Given the description of an element on the screen output the (x, y) to click on. 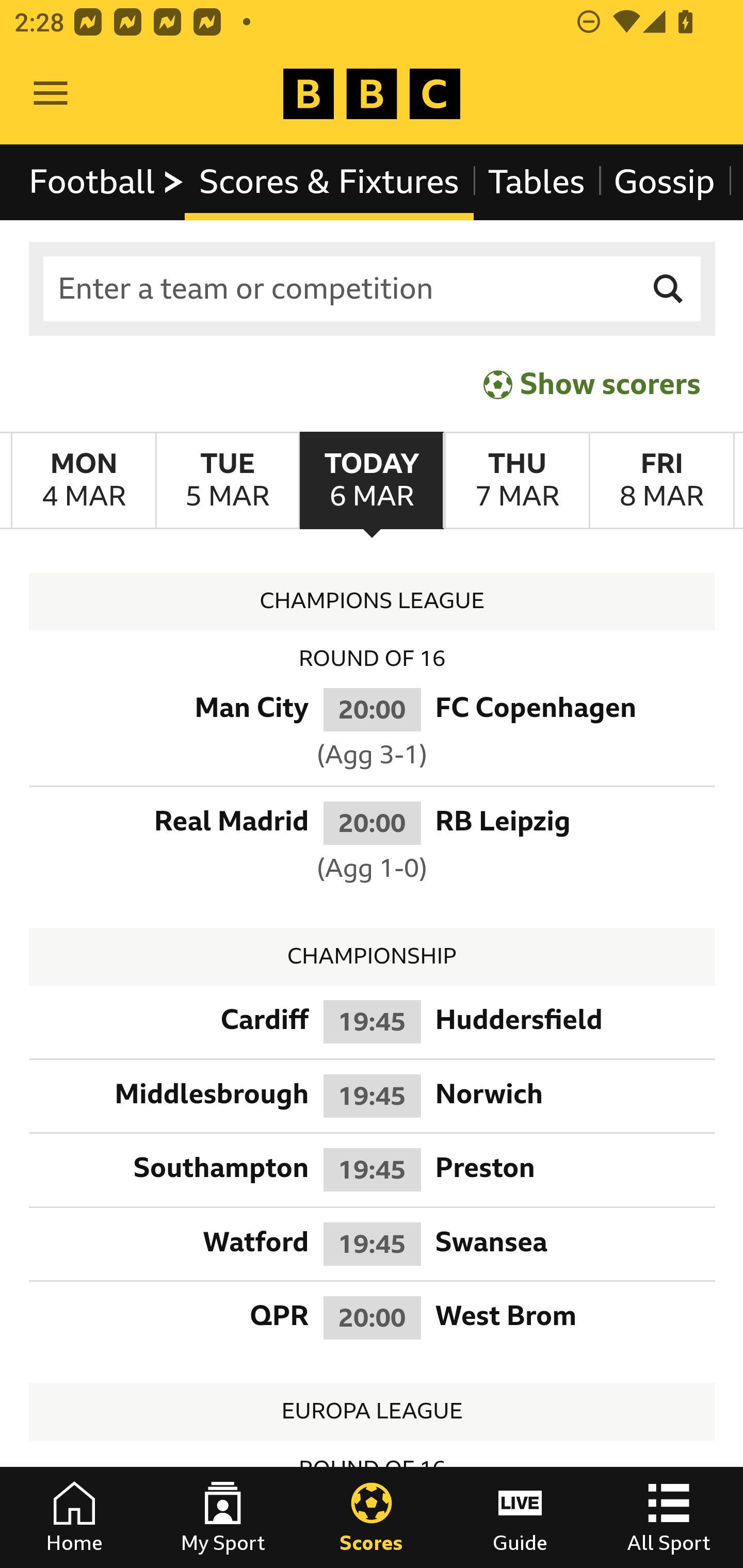
Open Menu (50, 93)
Football  (106, 181)
Scores & Fixtures (329, 181)
Tables (536, 181)
Gossip (664, 181)
Search (669, 289)
Show scorers (591, 383)
MondayMarch 4th Monday March 4th (83, 480)
TuesdayMarch 5th Tuesday March 5th (227, 480)
ThursdayMarch 7th Thursday March 7th (516, 480)
FridayMarch 8th Friday March 8th (661, 480)
Home (74, 1517)
My Sport (222, 1517)
Guide (519, 1517)
All Sport (668, 1517)
